Given the description of an element on the screen output the (x, y) to click on. 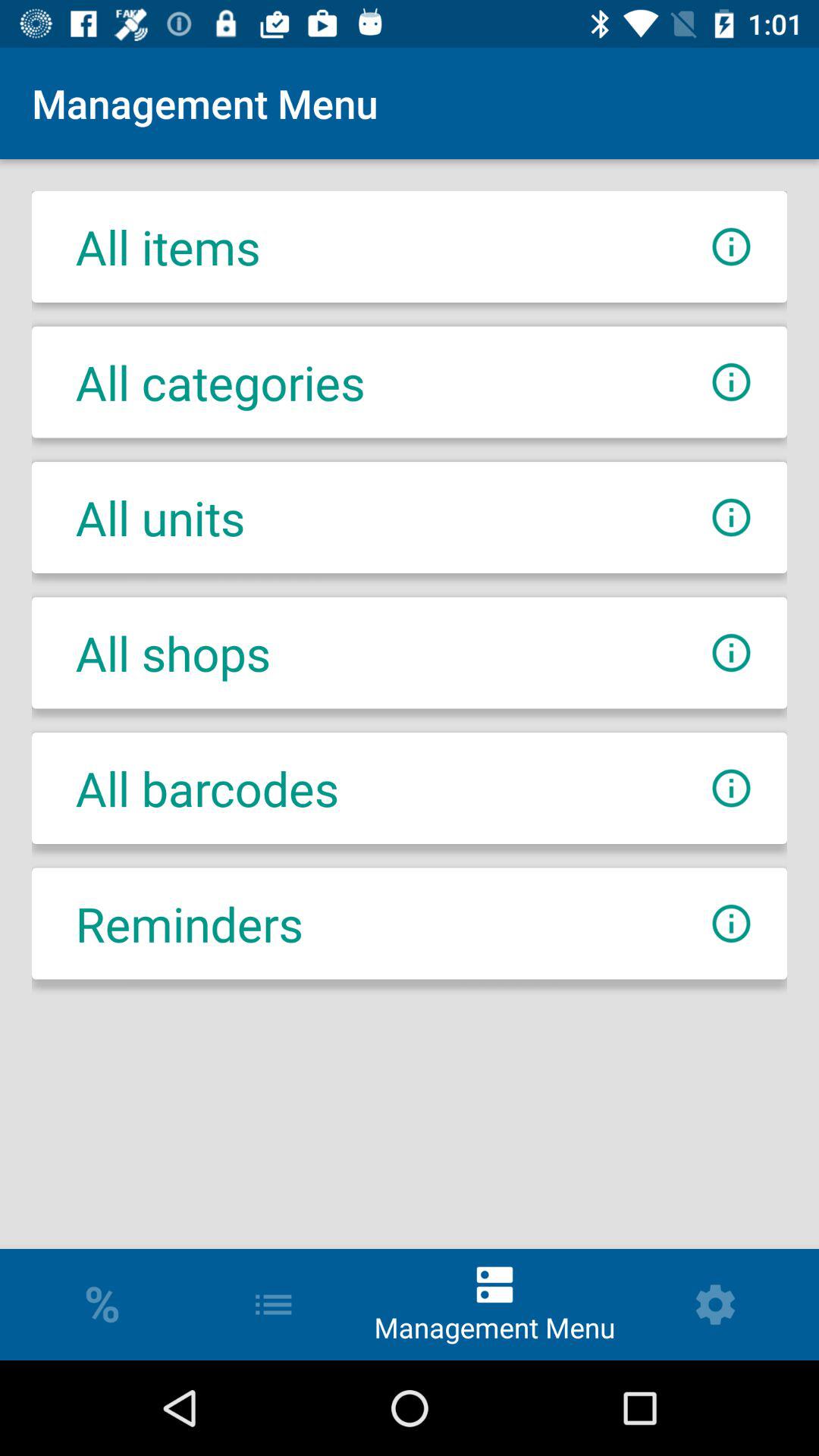
go to question option (731, 517)
